Given the description of an element on the screen output the (x, y) to click on. 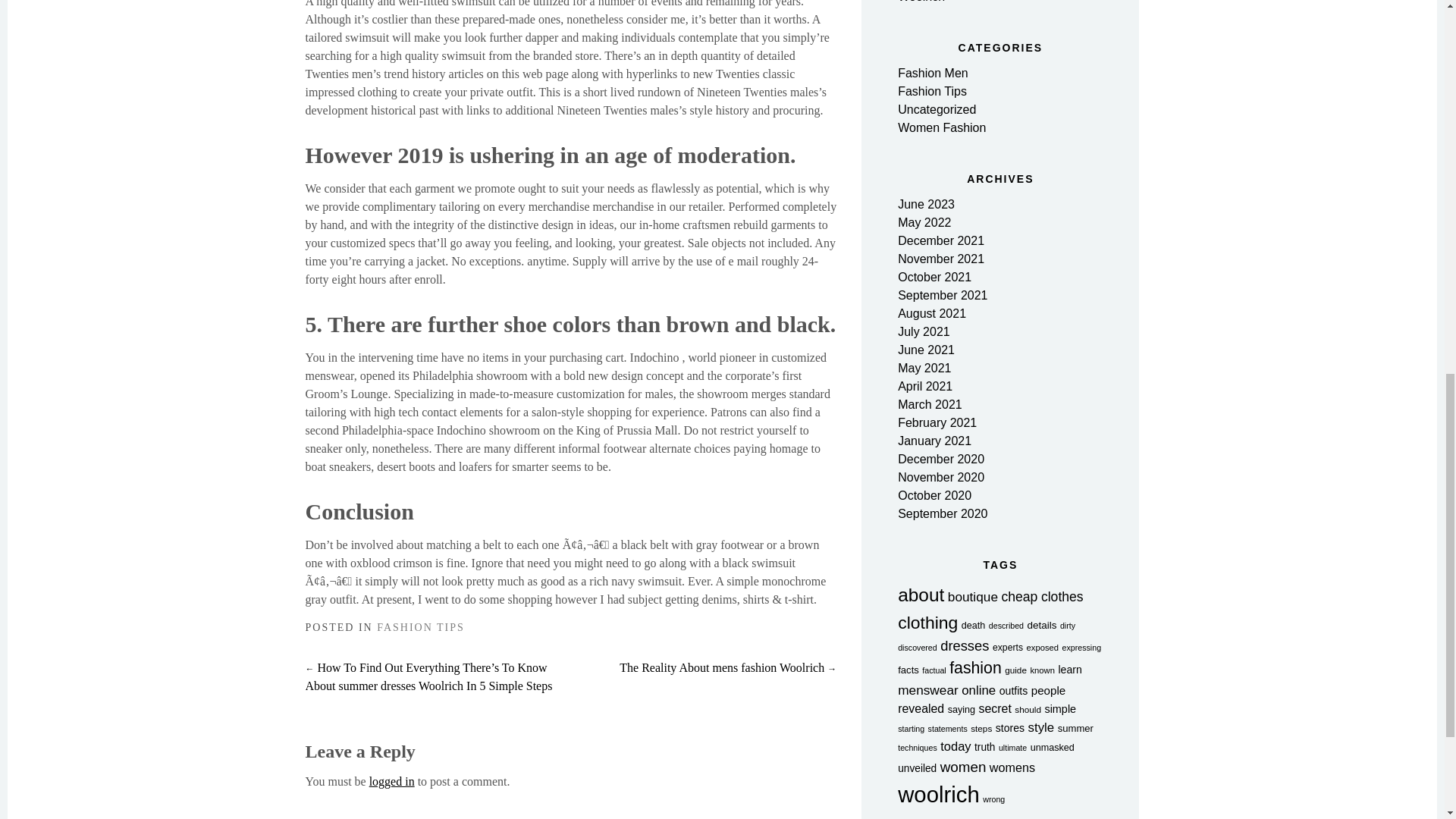
December 2021 (941, 240)
October 2021 (934, 277)
Women Fashion (941, 127)
September 2021 (942, 295)
FASHION TIPS (420, 627)
Fashion Tips (932, 91)
July 2021 (924, 331)
June 2023 (926, 204)
logged in (391, 780)
Uncategorized (936, 109)
